Given the description of an element on the screen output the (x, y) to click on. 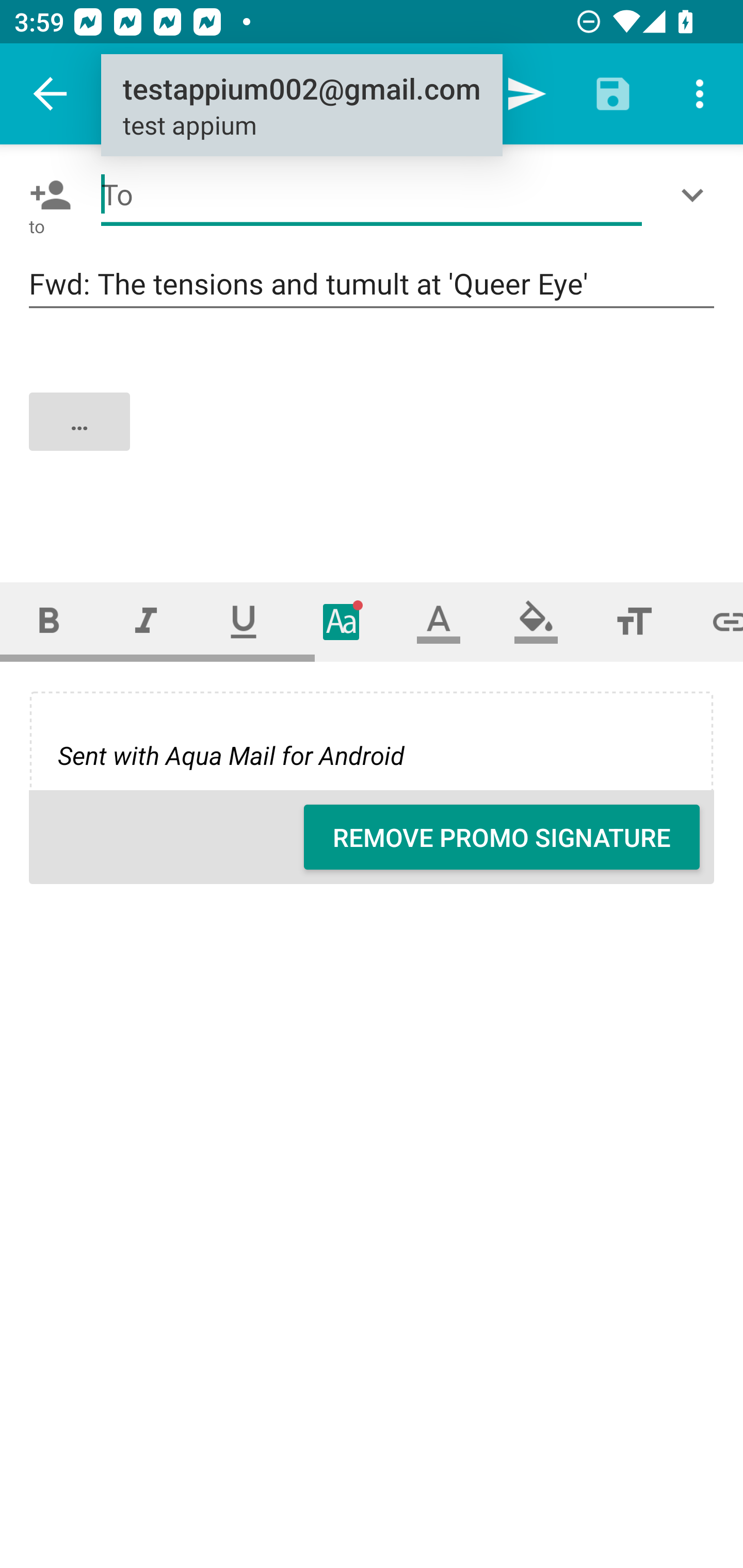
testappium002@gmail.com test appium (301, 105)
